Given the description of an element on the screen output the (x, y) to click on. 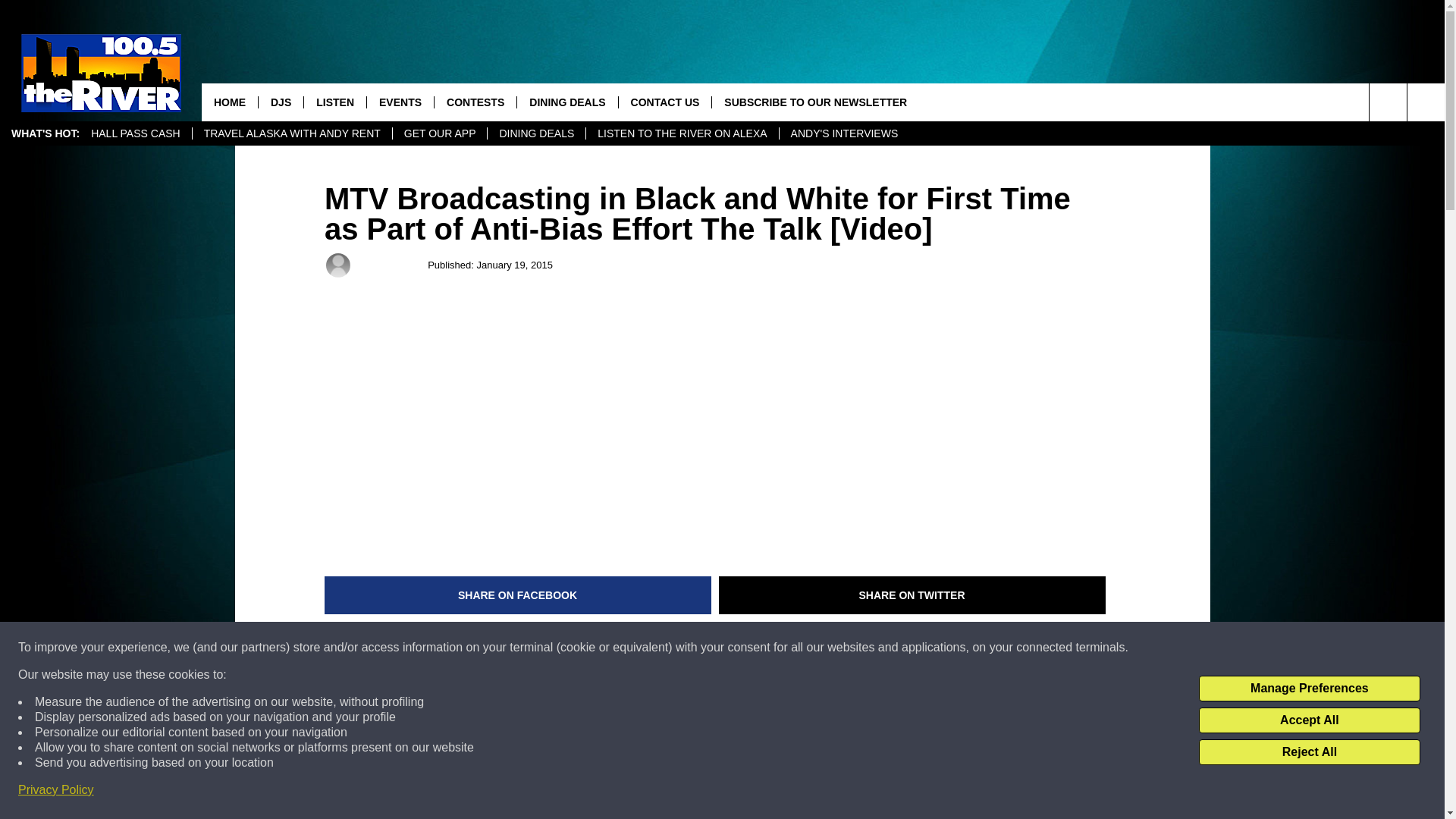
DINING DEALS (566, 102)
MTV (339, 648)
Reject All (1309, 751)
HALL PASS CASH (136, 133)
CONTESTS (474, 102)
DINING DEALS (535, 133)
HOME (229, 102)
ANDY'S INTERVIEWS (844, 133)
Look Different (618, 648)
LISTEN (334, 102)
CONTACT US (664, 102)
LISTEN TO THE RIVER ON ALEXA (681, 133)
Privacy Policy (55, 789)
GET OUR APP (439, 133)
Share on Facebook (517, 595)
